Given the description of an element on the screen output the (x, y) to click on. 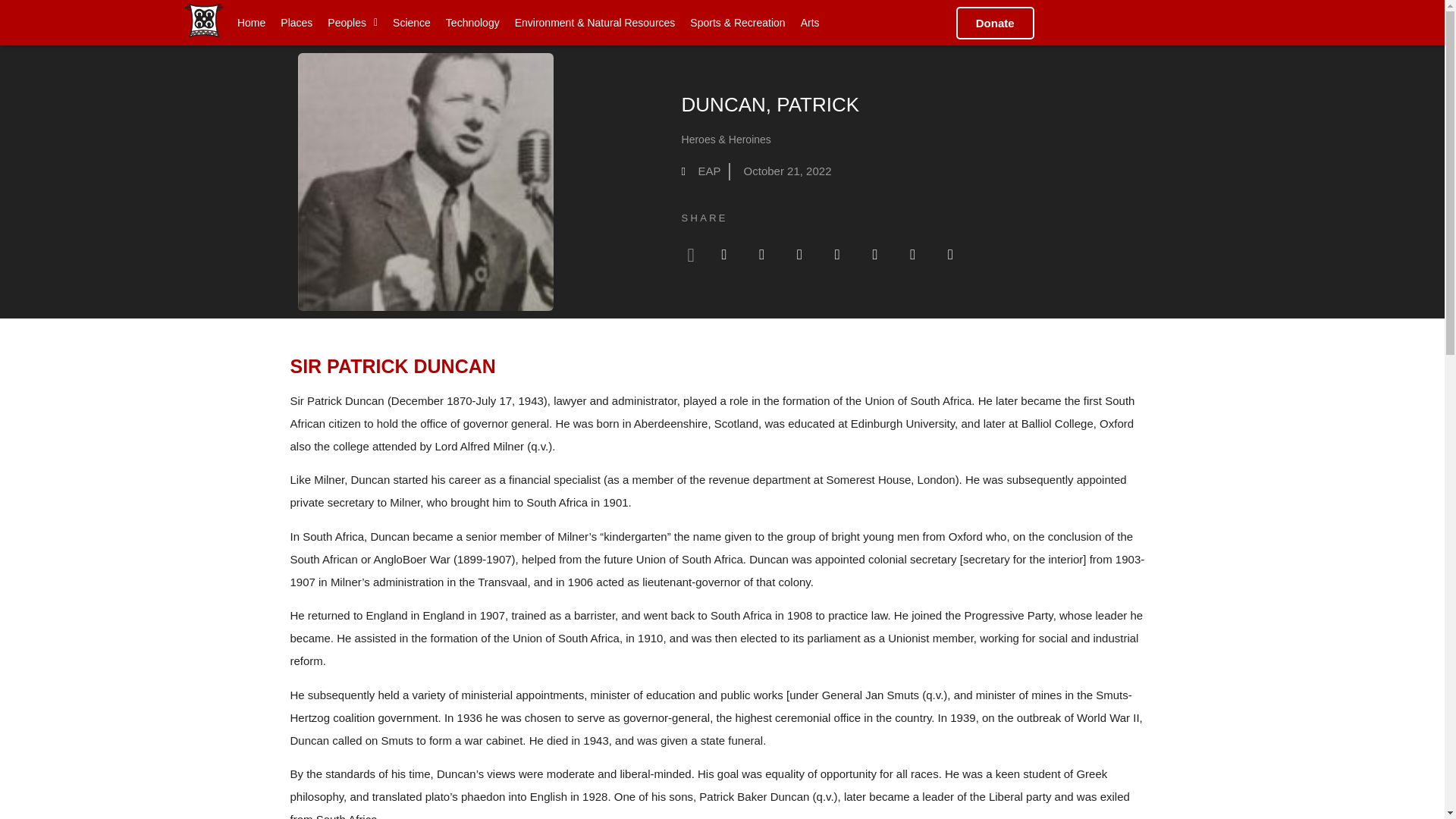
Science (411, 21)
Home (251, 21)
Technology (472, 21)
Peoples (352, 21)
Donate (994, 21)
EAP (700, 171)
October 21, 2022 (784, 171)
Arts (810, 21)
Places (296, 21)
